Given the description of an element on the screen output the (x, y) to click on. 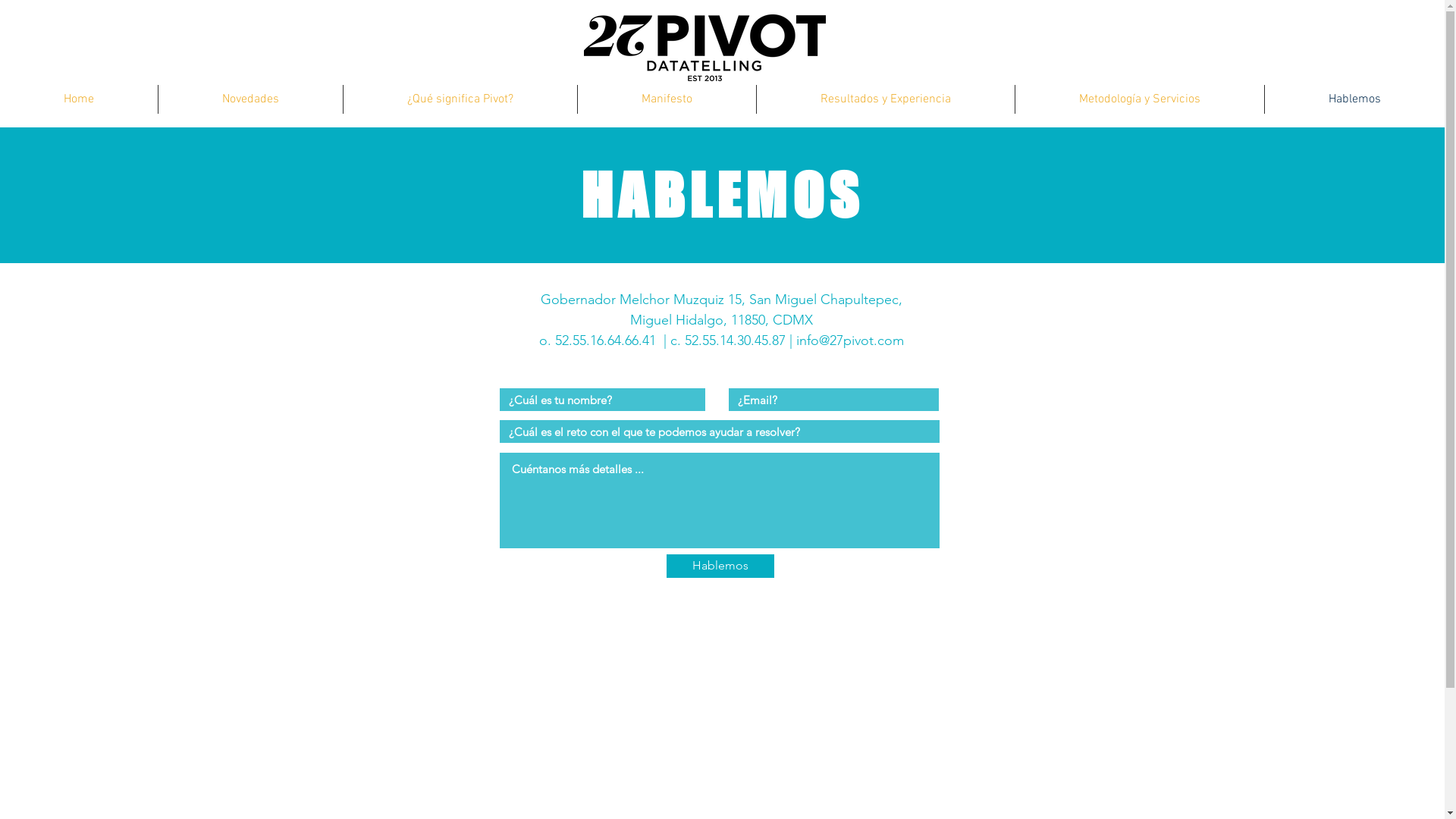
Hablemos Element type: text (1354, 98)
Resultados y Experiencia Element type: text (885, 98)
info@27pivot.com Element type: text (849, 340)
Hablemos Element type: text (719, 565)
Novedades Element type: text (250, 98)
Home Element type: text (78, 98)
Manifesto Element type: text (666, 98)
